Given the description of an element on the screen output the (x, y) to click on. 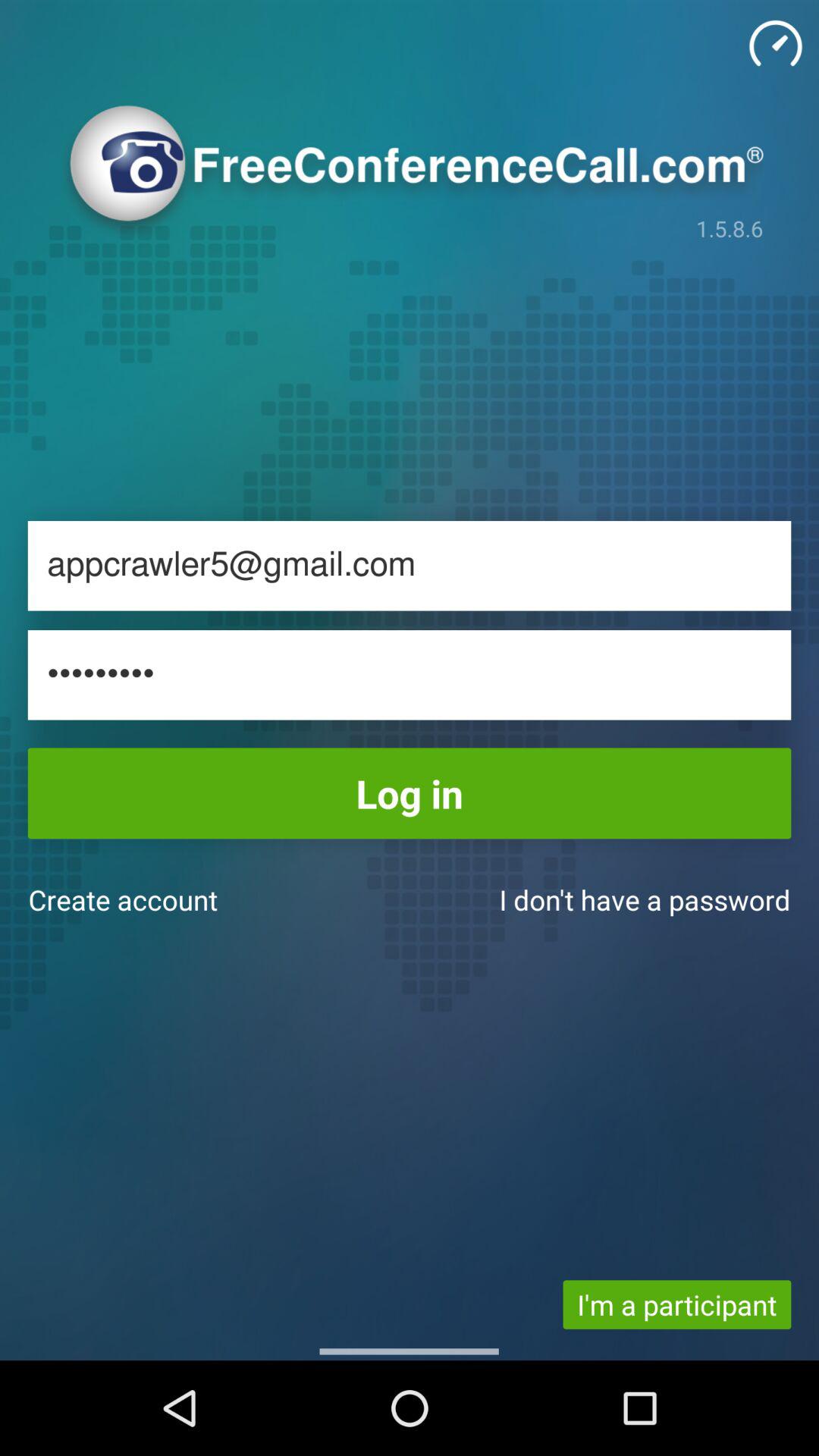
open timer (775, 43)
